Given the description of an element on the screen output the (x, y) to click on. 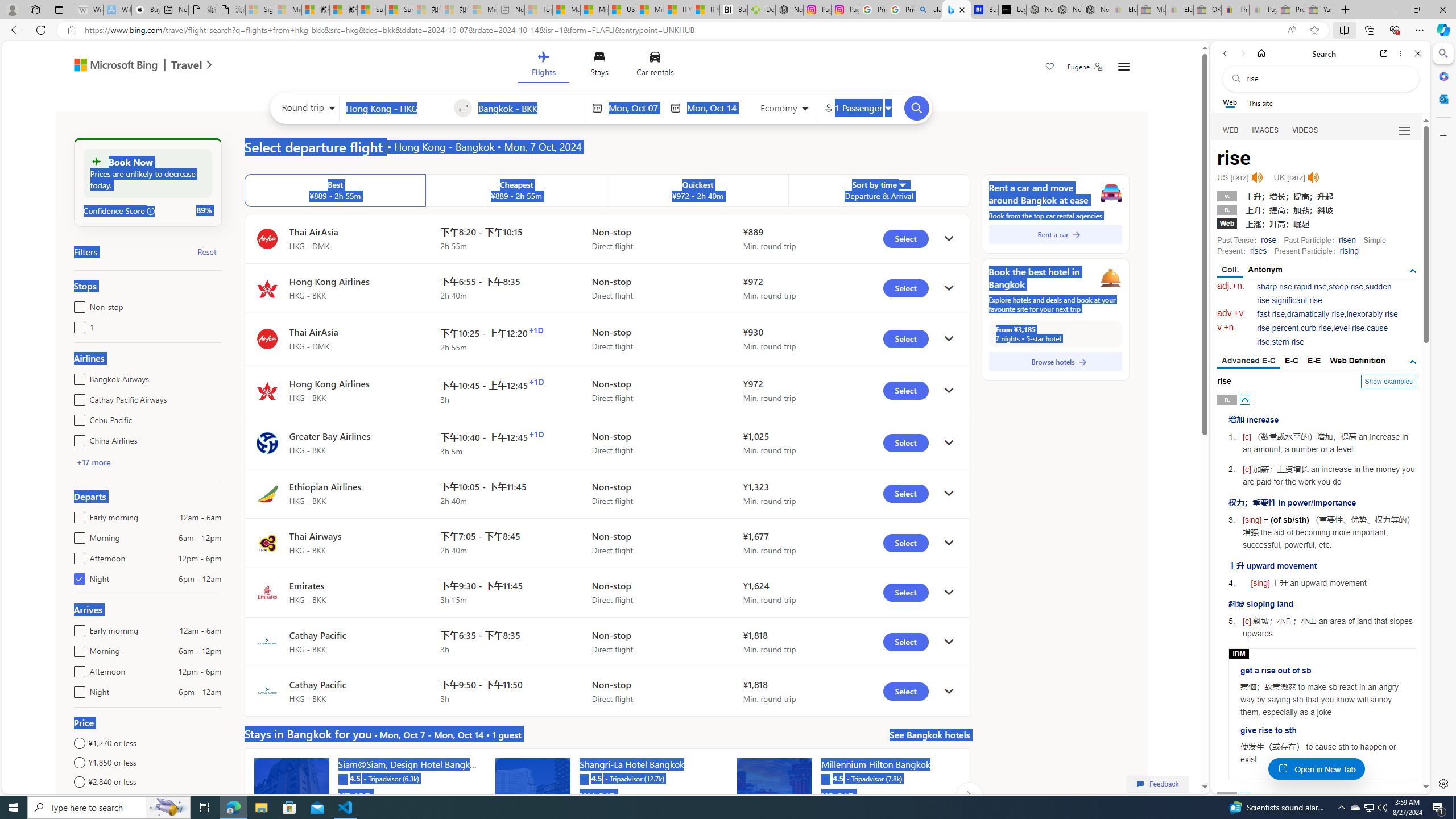
Coll. (1230, 270)
Save (1049, 67)
Swap source and destination (463, 108)
Car rentals (654, 65)
+17 more (92, 461)
Save (1049, 67)
E-C (1291, 360)
New tab - Sleeping (510, 9)
